Given the description of an element on the screen output the (x, y) to click on. 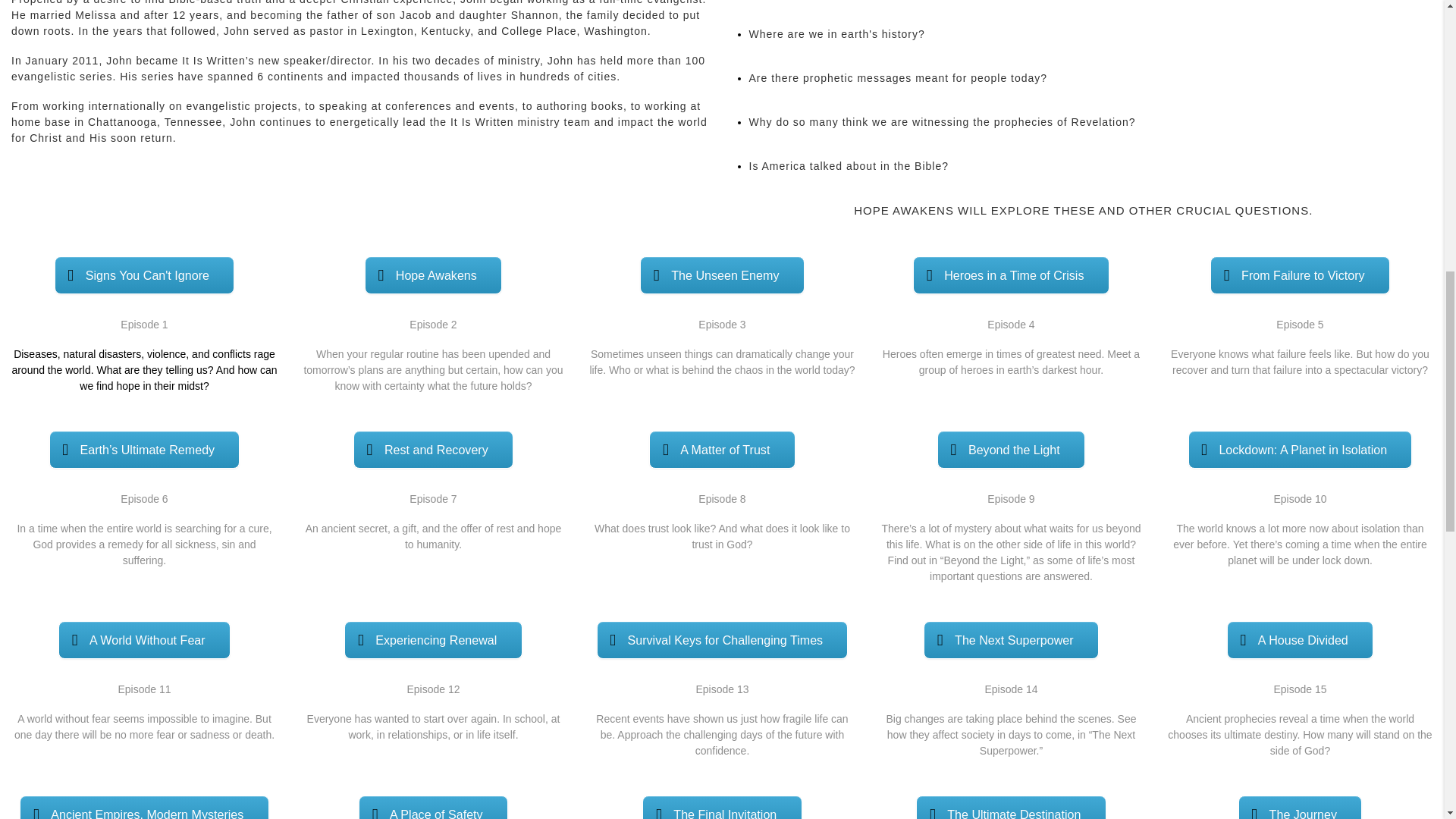
Experiencing Renewal (432, 639)
Next (825, 137)
Heroes in a Time of Crisis (1010, 275)
A World Without Fear (144, 639)
A Matter of Trust (721, 449)
From Failure to Victory (1299, 275)
Survival Keys for Challenging Times (722, 639)
Signs You Can't Ignore (144, 275)
Hope Awakens (433, 275)
Lockdown: A Planet in Isolation (1300, 449)
The Unseen Enemy (721, 275)
Rest and Recovery (433, 449)
Beyond the Light (1010, 449)
